Given the description of an element on the screen output the (x, y) to click on. 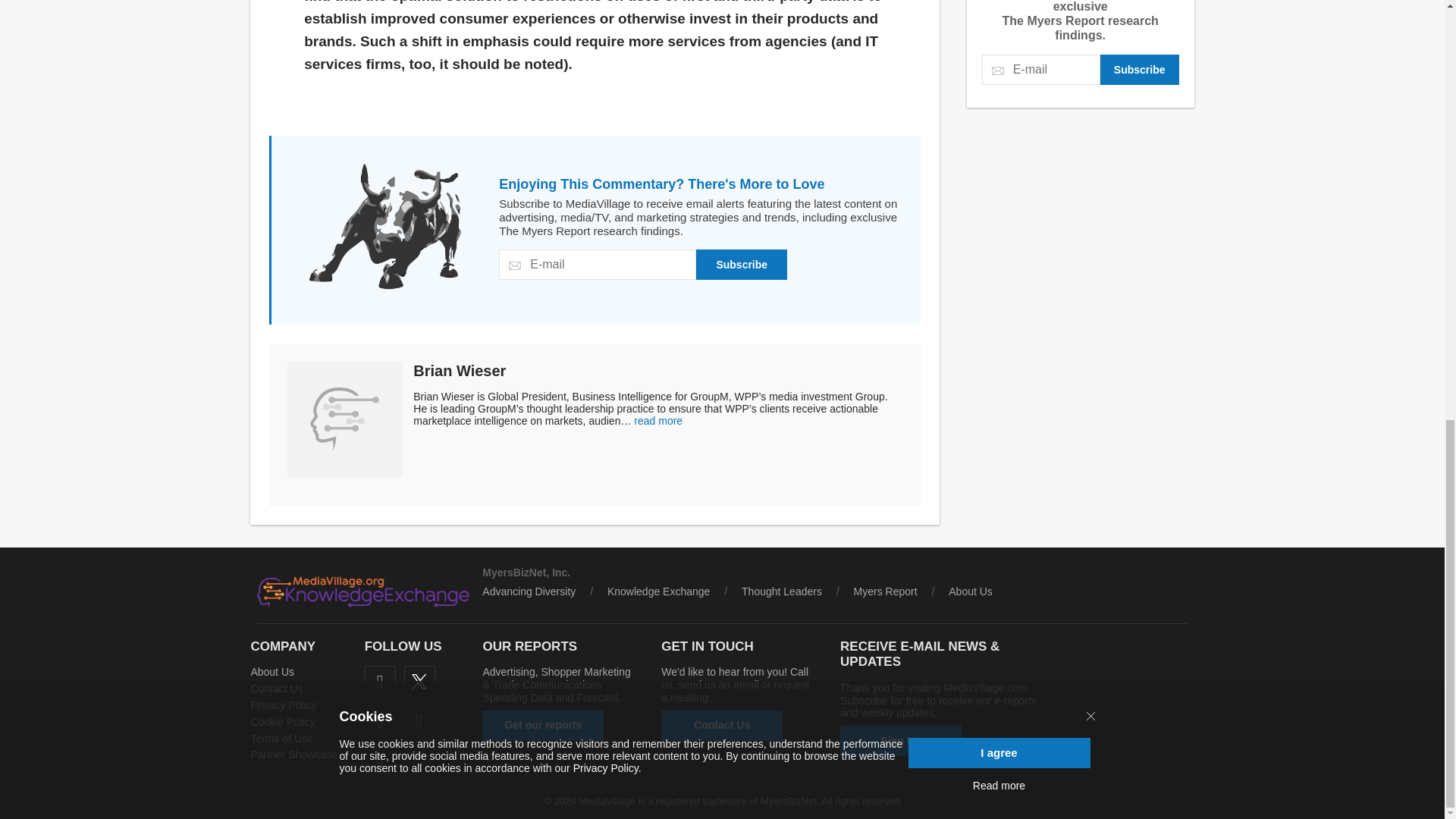
Follow us on Instagram (419, 720)
Follow us on Facebook (380, 680)
Rss (380, 759)
Follow us on Twitter (419, 680)
Follow us on LinkedIn (380, 720)
